Given the description of an element on the screen output the (x, y) to click on. 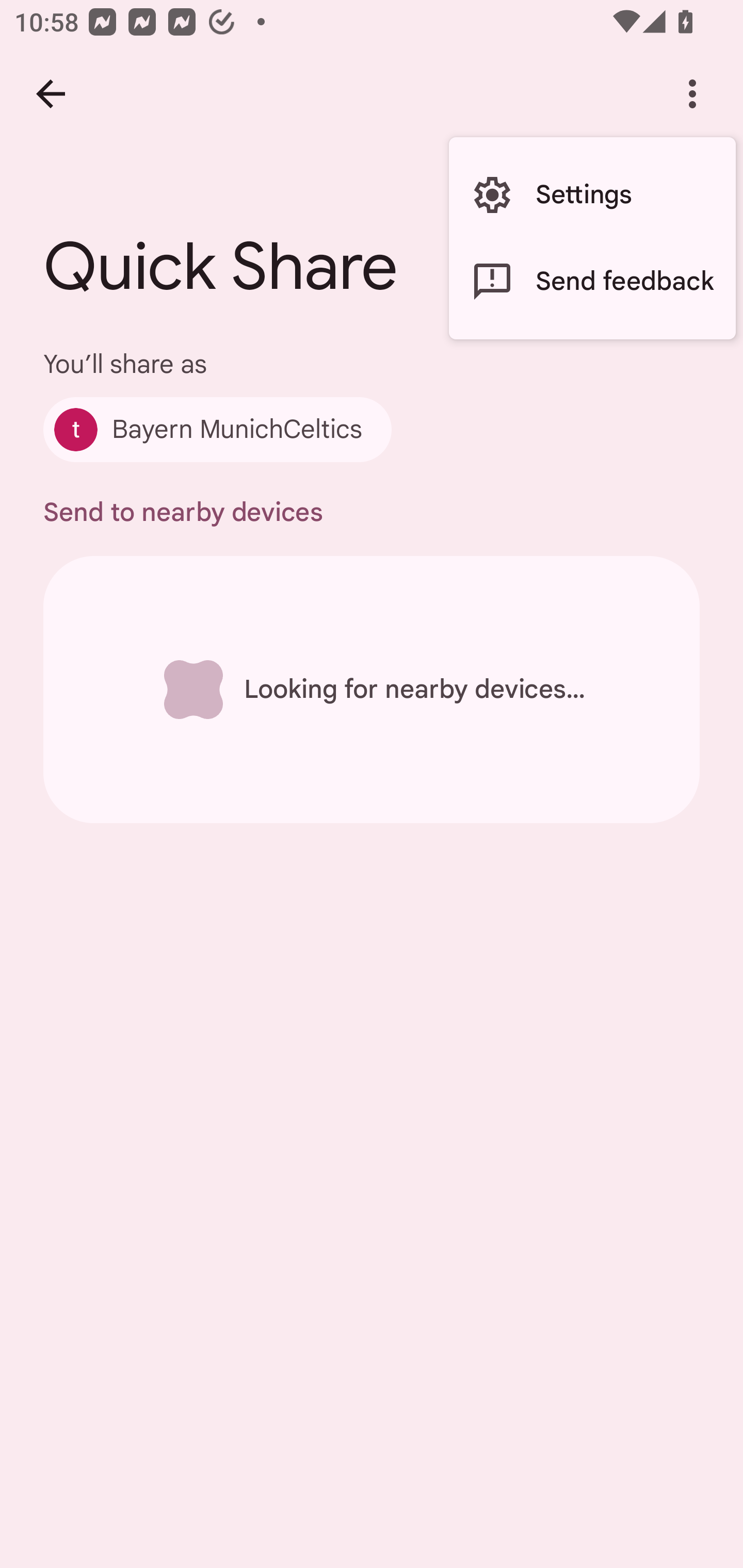
Settings (591, 195)
Send feedback (591, 281)
